Given the description of an element on the screen output the (x, y) to click on. 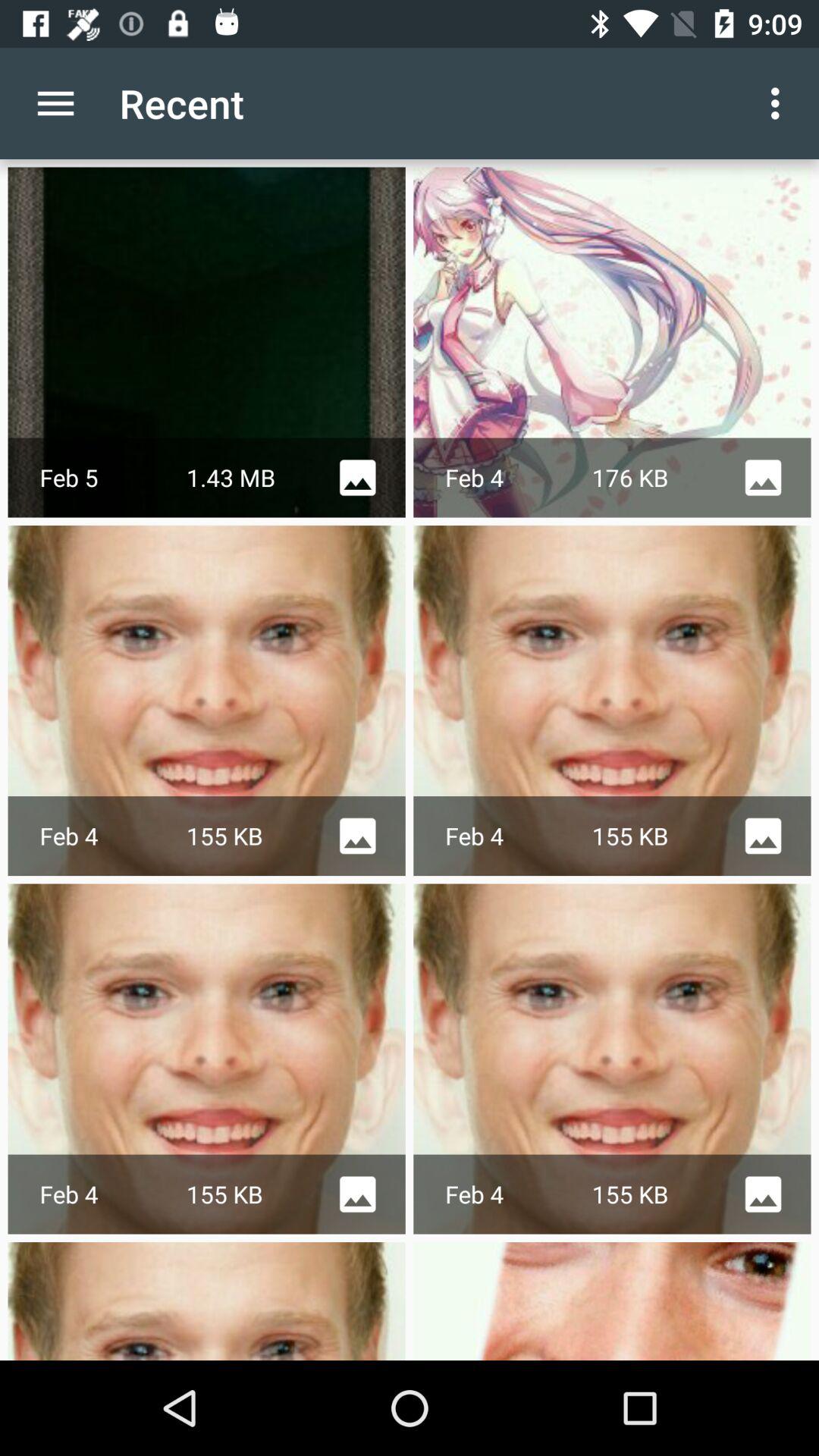
press icon to the left of recent (55, 103)
